Given the description of an element on the screen output the (x, y) to click on. 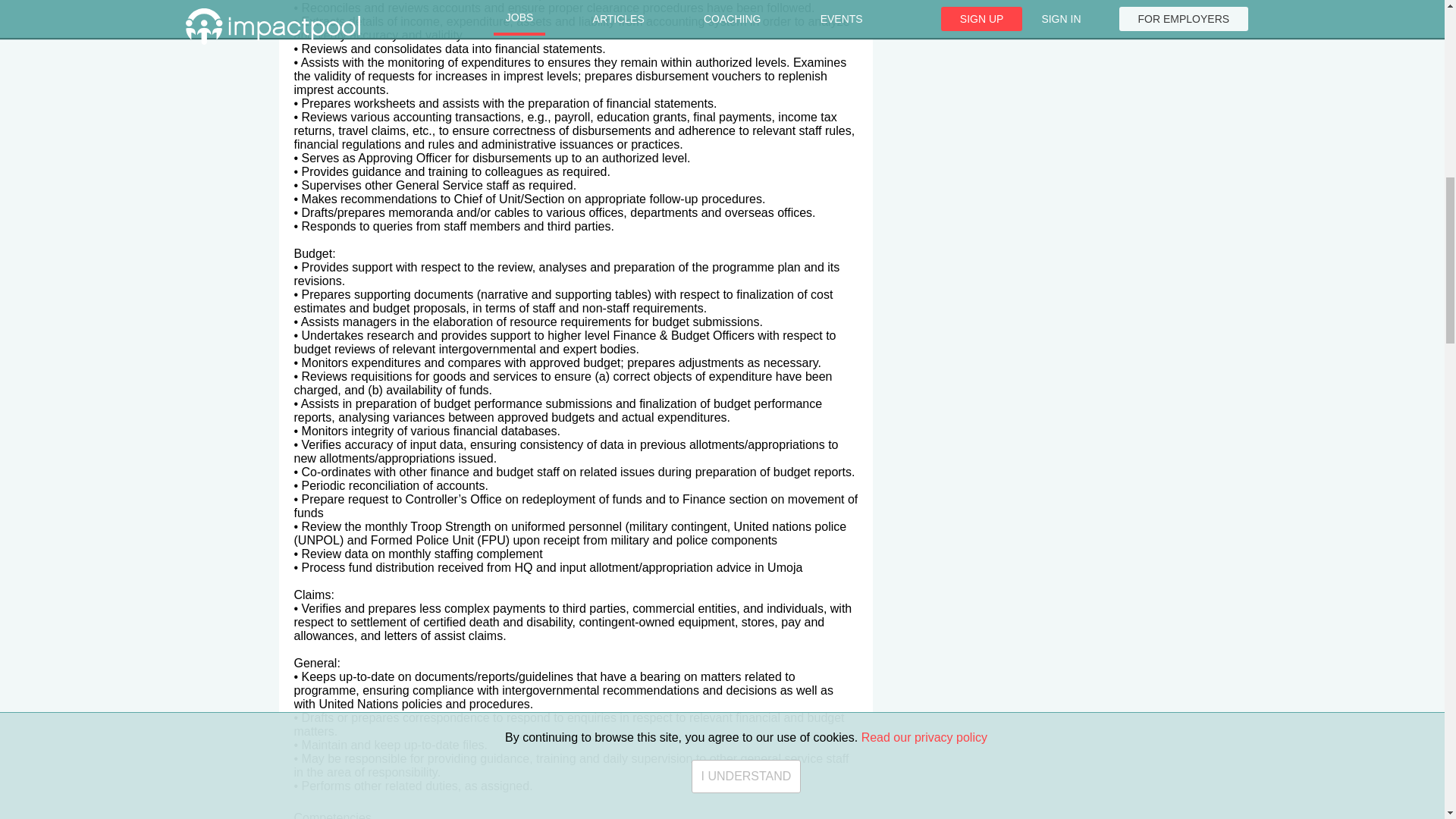
Read our privacy policy (924, 4)
I UNDERSTAND (746, 30)
